Given the description of an element on the screen output the (x, y) to click on. 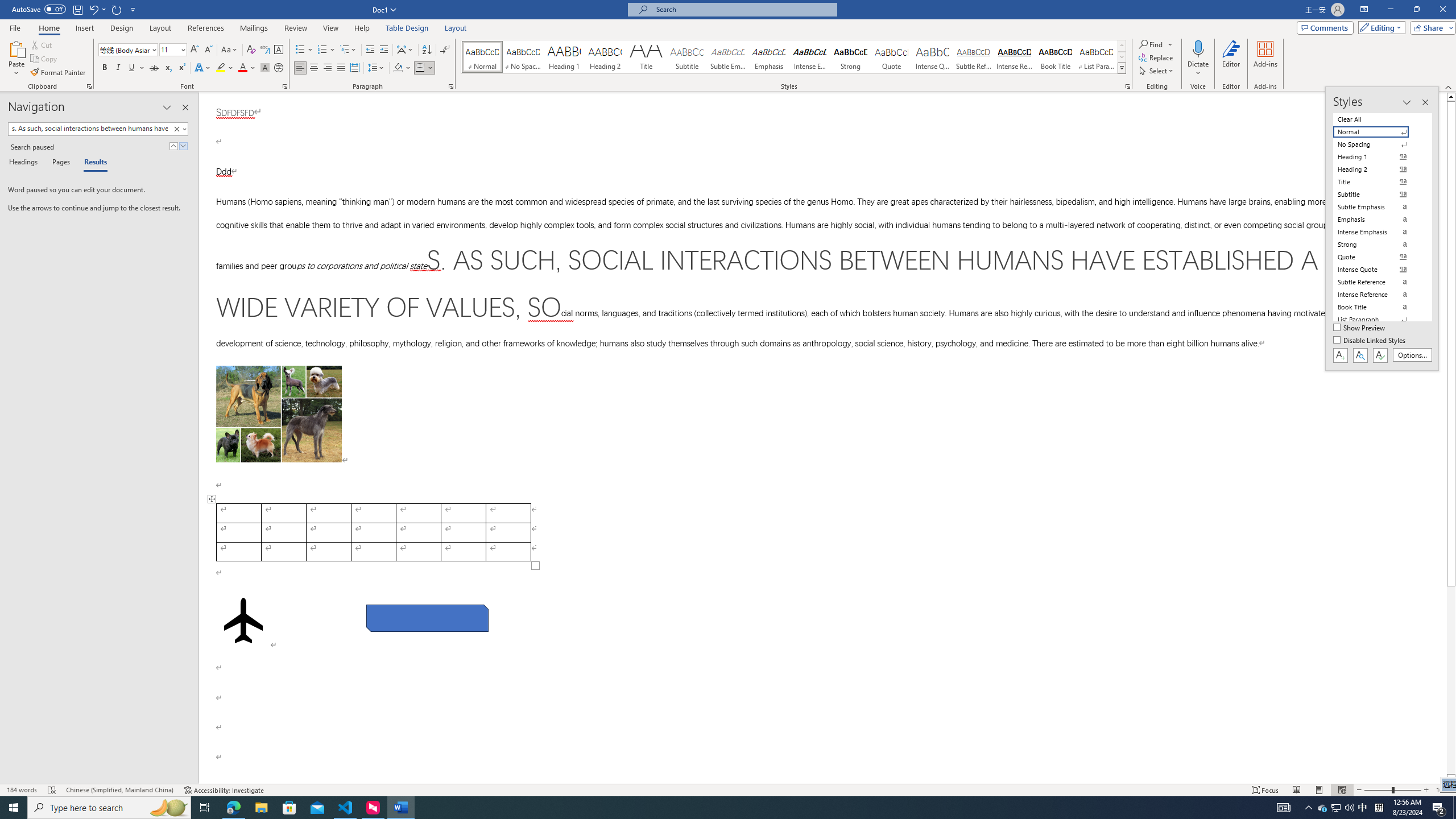
Repeat Style (117, 9)
Intense Emphasis (809, 56)
